Given the description of an element on the screen output the (x, y) to click on. 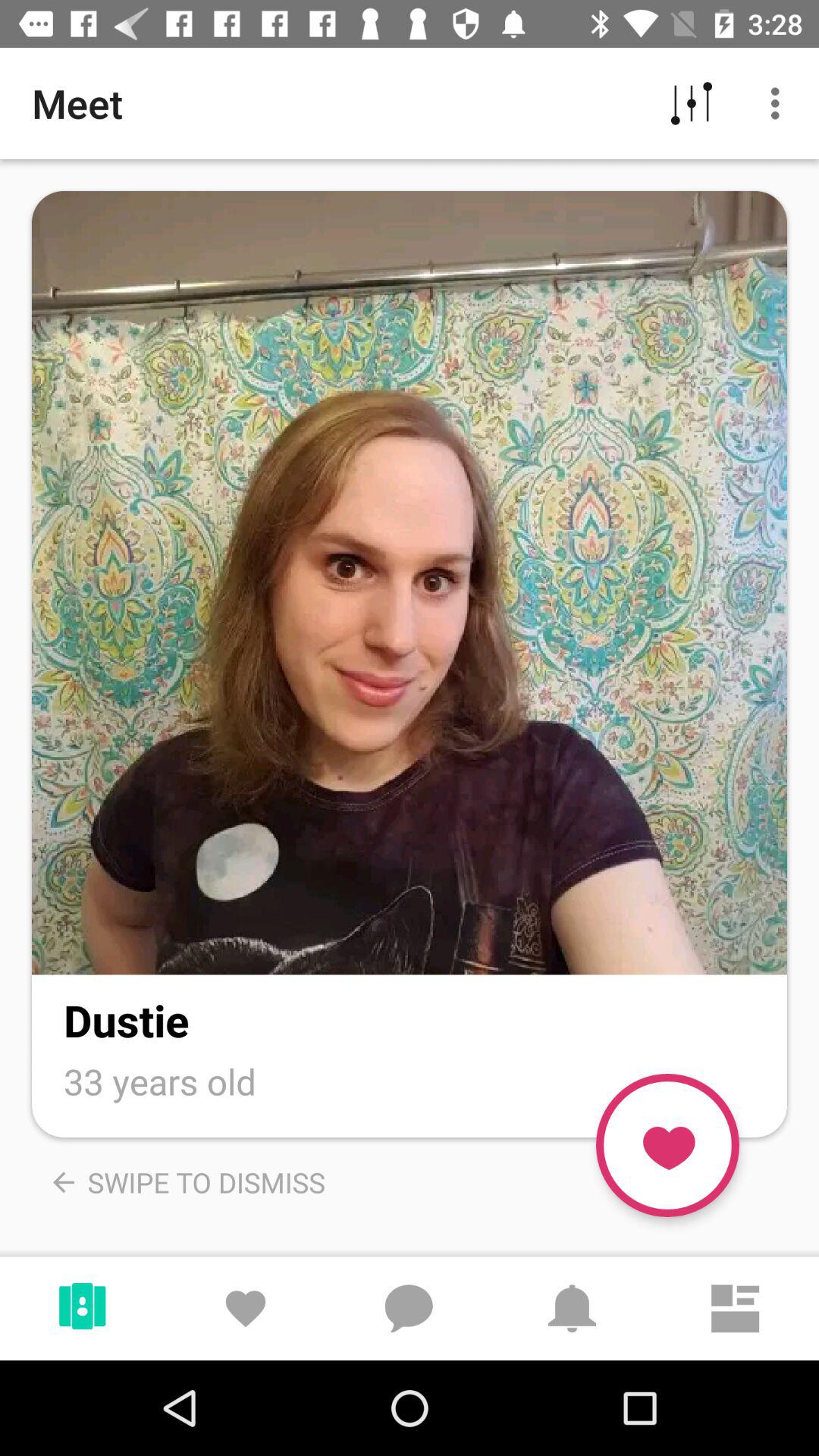
tap the 33 years old (159, 1081)
